Given the description of an element on the screen output the (x, y) to click on. 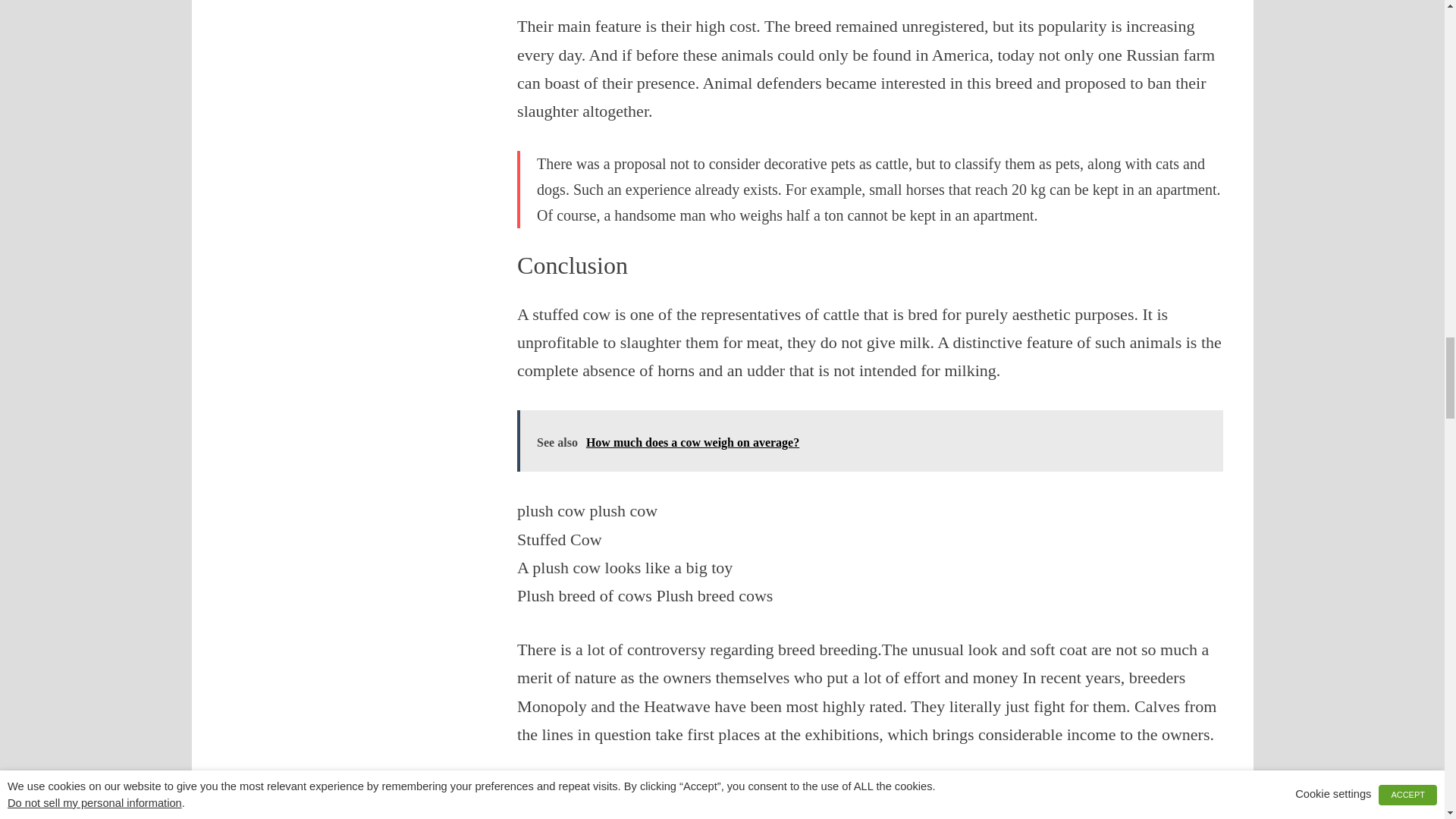
Print (973, 811)
Instagram (943, 811)
Twitter (765, 811)
More (1003, 811)
Pinterest (825, 811)
Reddit (854, 811)
Facebook (736, 811)
Telegram (914, 811)
Whatsapp (884, 811)
Linkedin (796, 811)
